Given the description of an element on the screen output the (x, y) to click on. 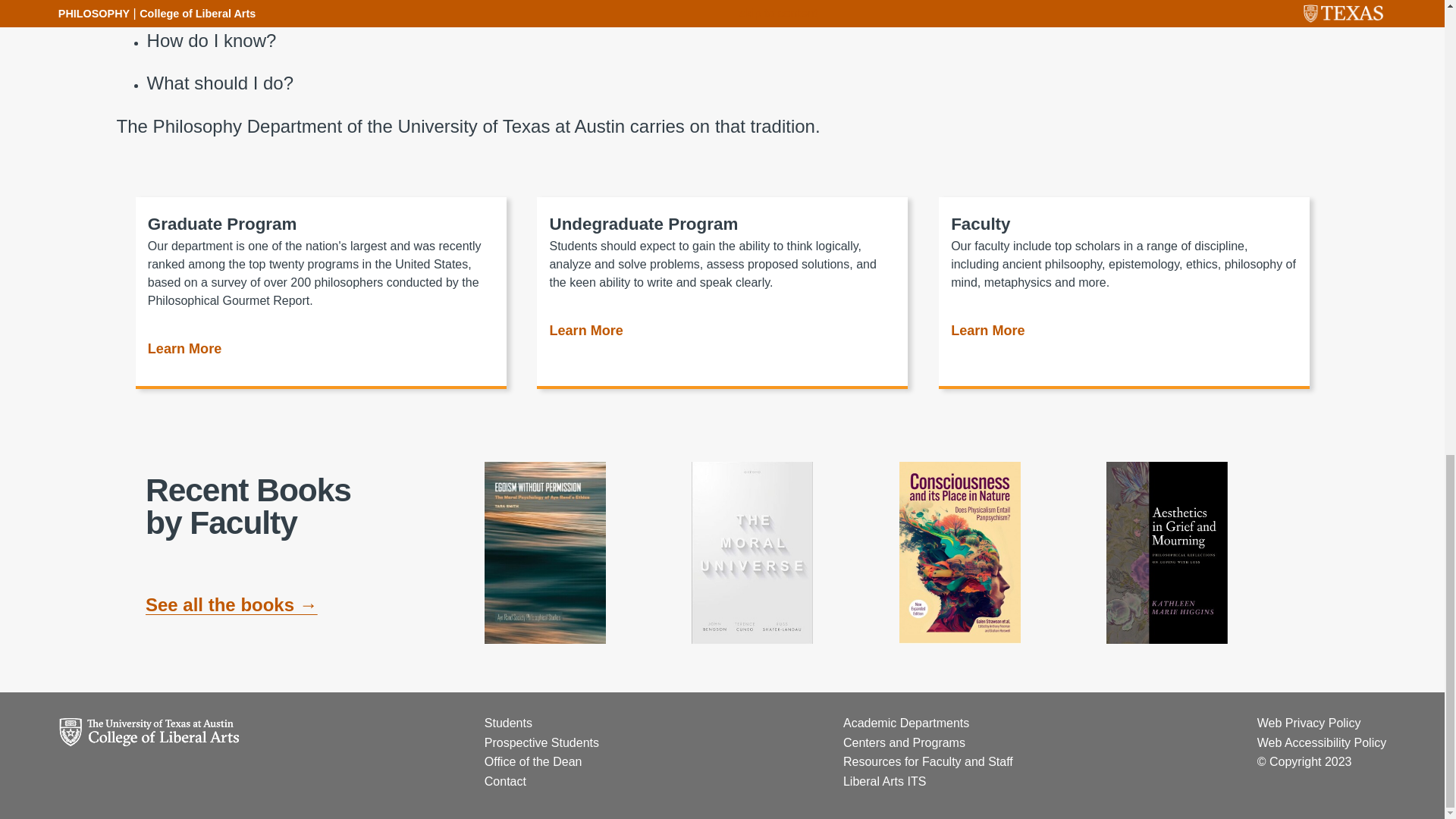
Web Privacy Policy (1309, 722)
Academic Departments (906, 722)
Resources for Faculty and Staff (928, 761)
Contact (504, 780)
Liberal Arts ITS (884, 780)
Web Accessibility Policy (1321, 742)
Prospective Students (541, 742)
Learn More (184, 351)
Students (508, 722)
Office of the Dean (533, 761)
Learn More (585, 333)
Centers and Programs (904, 742)
Learn More (987, 333)
